Given the description of an element on the screen output the (x, y) to click on. 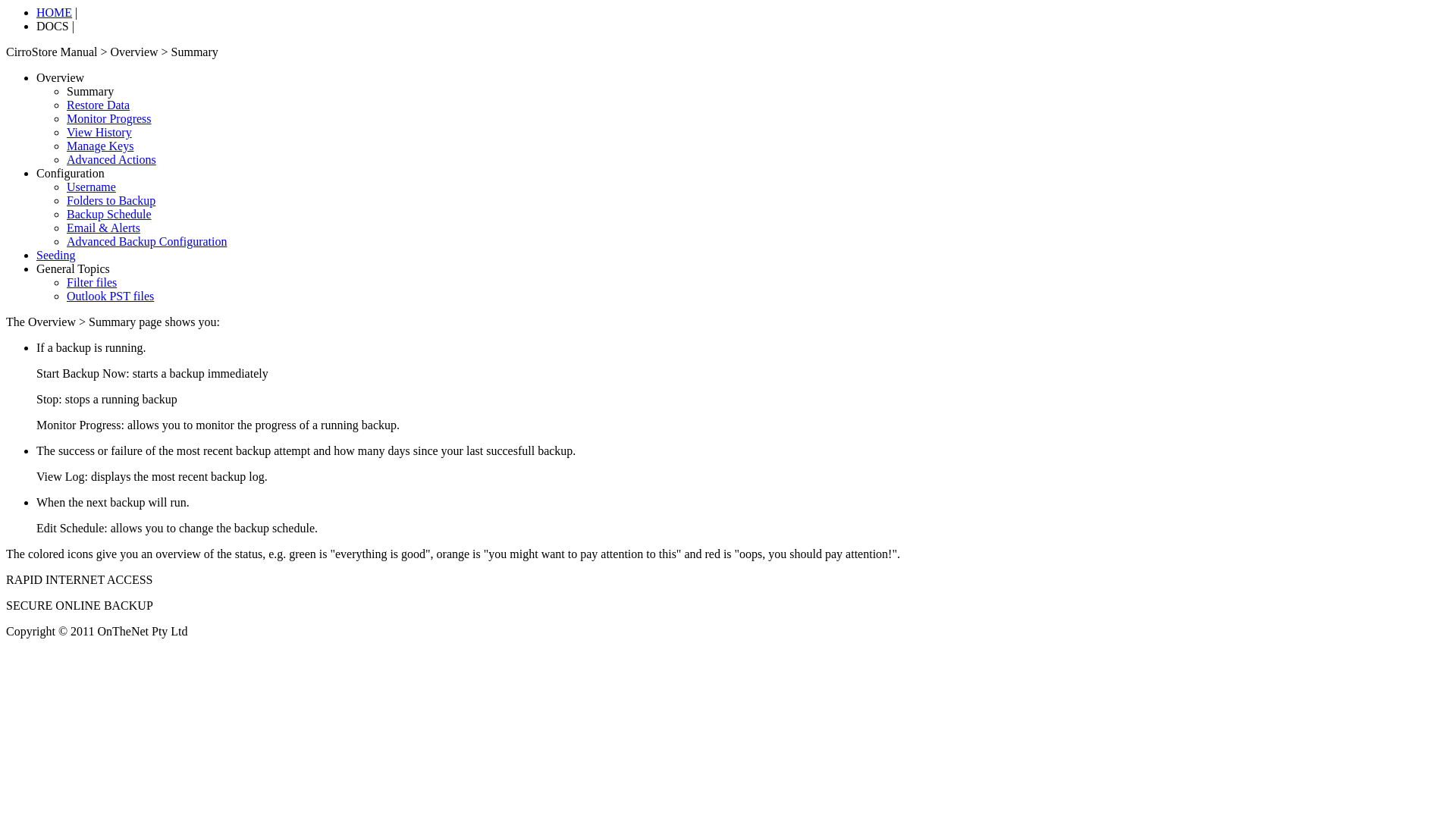
Backup Schedule Element type: text (108, 213)
Monitor Progress Element type: text (108, 118)
Filter files Element type: text (91, 282)
HOME Element type: text (54, 12)
Restore Data Element type: text (97, 104)
Advanced Backup Configuration Element type: text (146, 241)
Seeding Element type: text (55, 254)
Advanced Actions Element type: text (111, 159)
Folders to Backup Element type: text (110, 200)
View History Element type: text (98, 131)
Username Element type: text (91, 186)
Email & Alerts Element type: text (103, 227)
Outlook PST files Element type: text (109, 295)
Manage Keys Element type: text (99, 145)
